Given the description of an element on the screen output the (x, y) to click on. 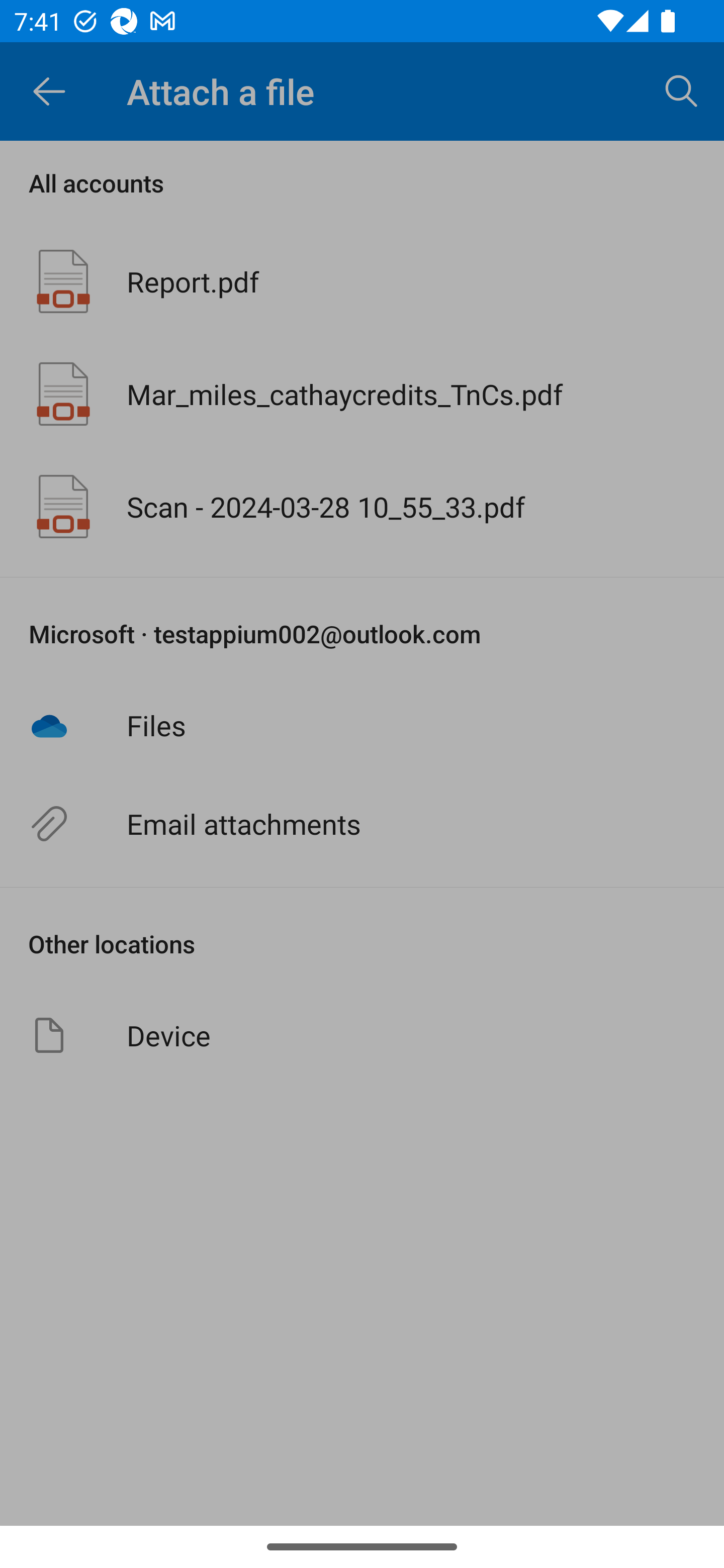
Navigate up (49, 91)
Search button (681, 90)
Report.pdf (362, 281)
Mar_miles_cathaycredits_TnCs.pdf (362, 393)
Scan - 2024-03-28 10_55_33.pdf (362, 506)
Files (362, 724)
Email attachments (362, 823)
Device (362, 1035)
